Given the description of an element on the screen output the (x, y) to click on. 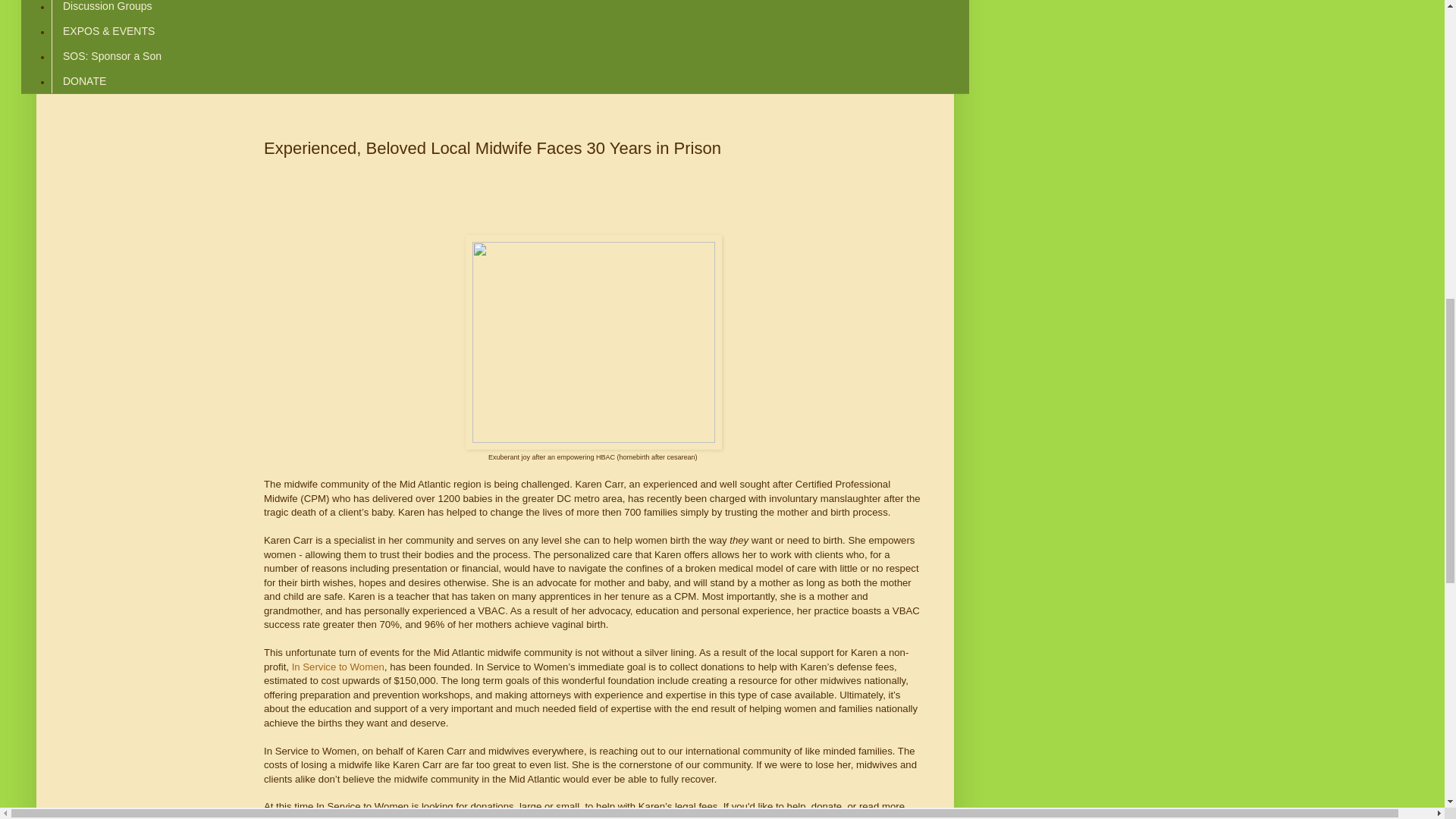
SOS: Sponsor a Son (110, 56)
In Service to Women (687, 816)
Discussion Groups (106, 9)
DONATE (83, 80)
In Service to Women (338, 666)
